Given the description of an element on the screen output the (x, y) to click on. 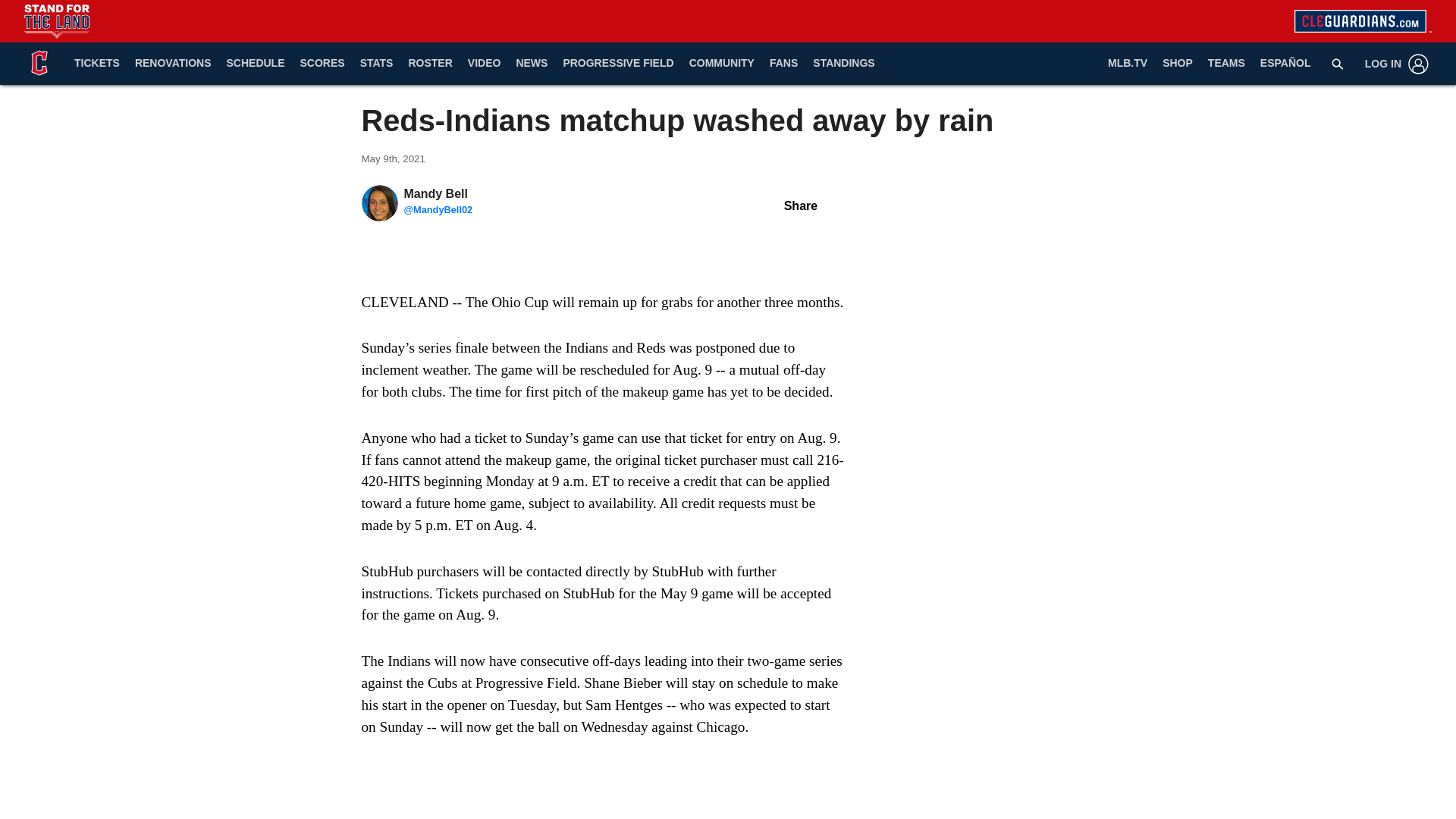
SCORES (322, 63)
STATS (376, 63)
TICKETS (97, 63)
search-417553 (1337, 63)
RENOVATIONS (173, 63)
SCHEDULE (255, 63)
